Given the description of an element on the screen output the (x, y) to click on. 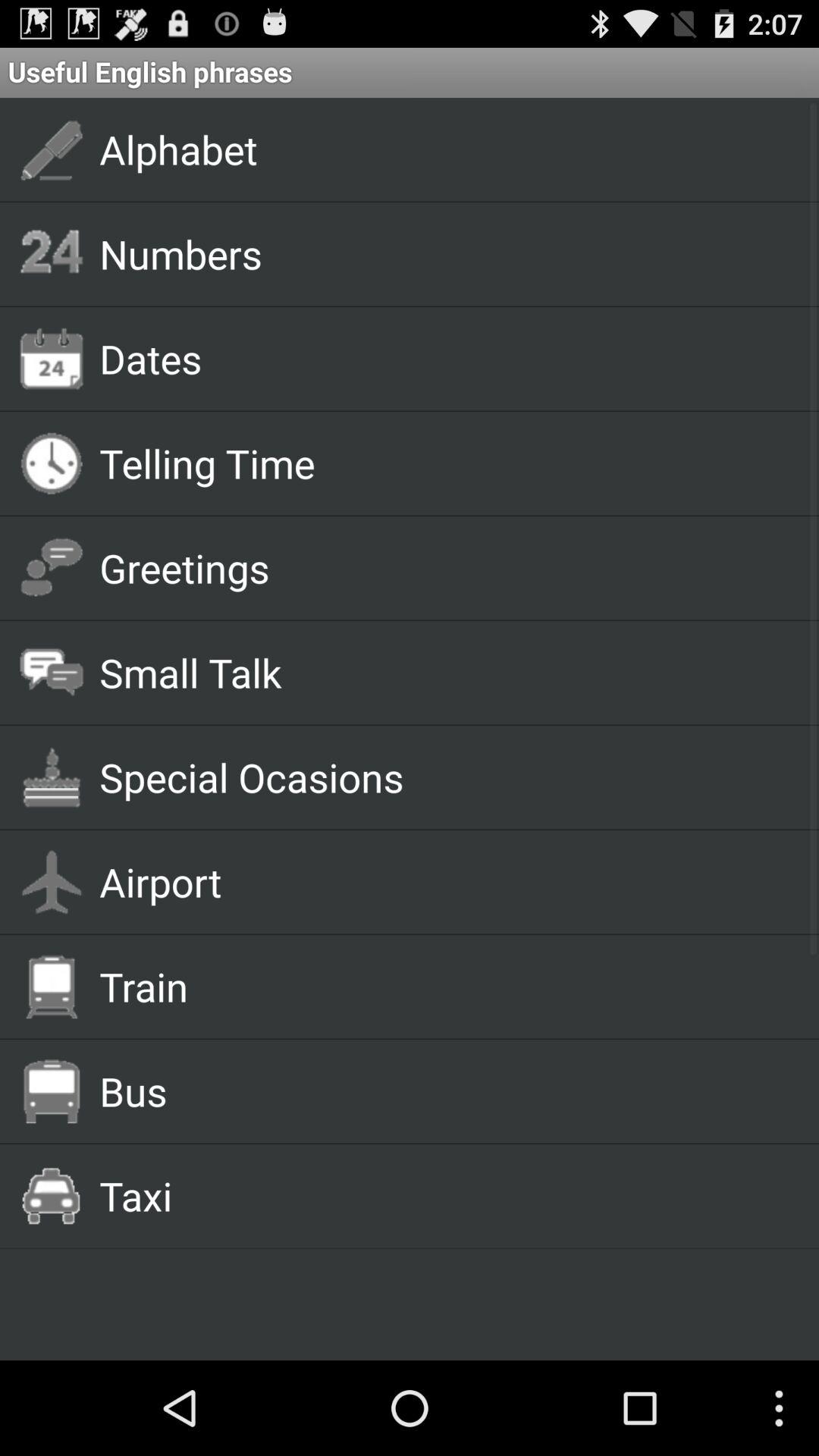
press app below useful english phrases item (441, 148)
